Given the description of an element on the screen output the (x, y) to click on. 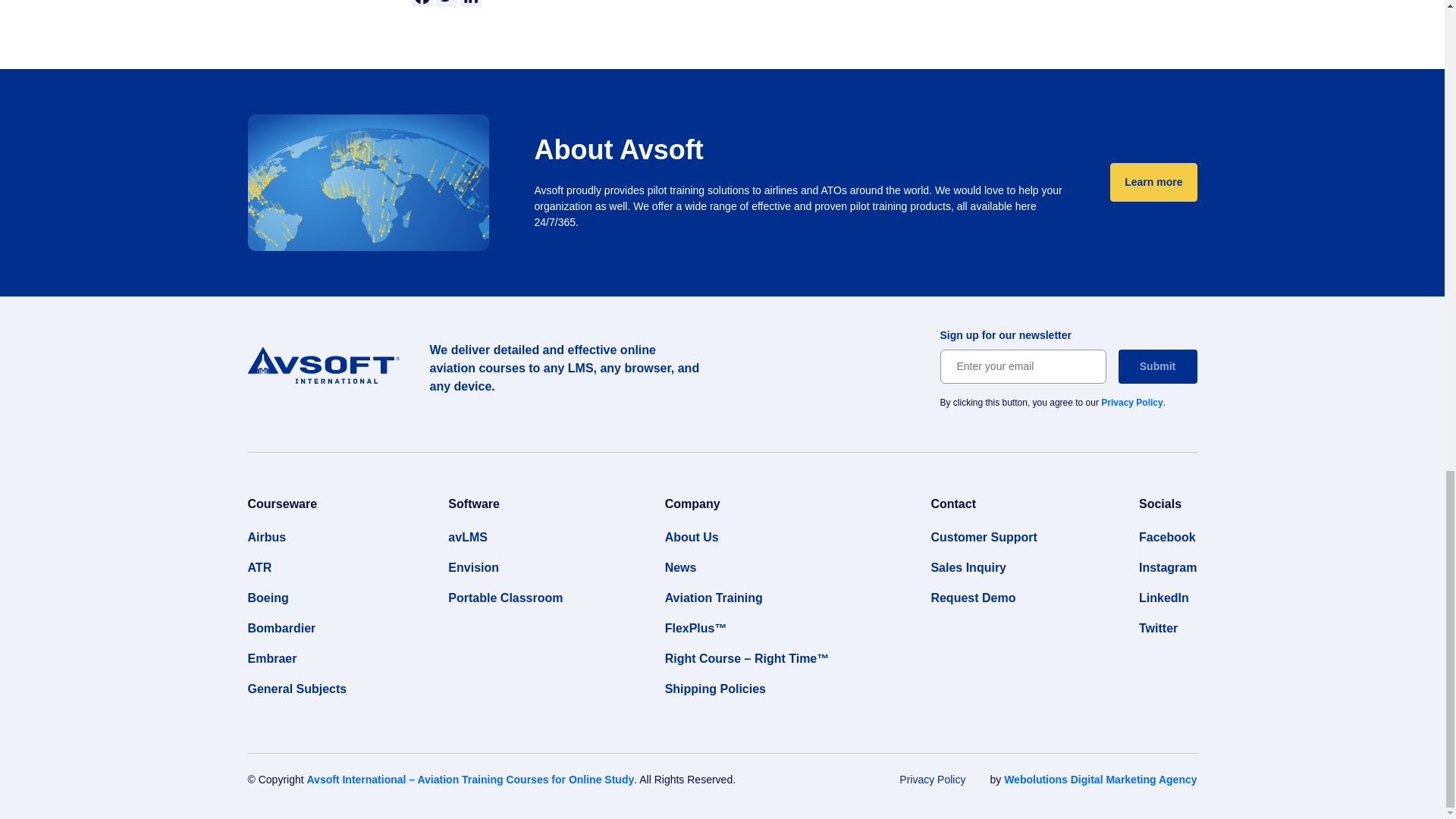
Linkedin (470, 3)
Facebook (421, 3)
Twitter (446, 3)
Submit (1157, 366)
